Given the description of an element on the screen output the (x, y) to click on. 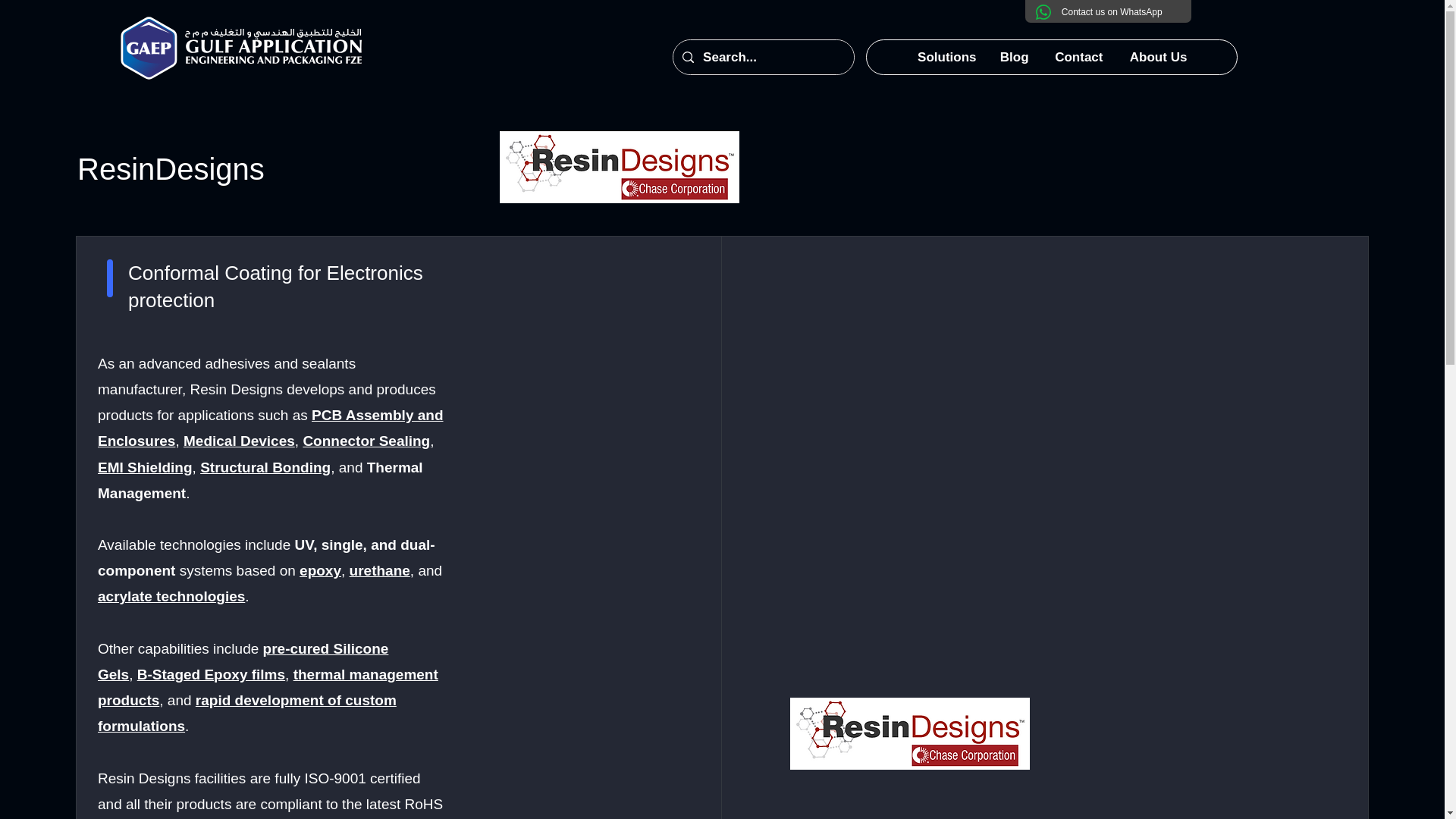
Blog (1013, 57)
About Us (1158, 57)
Contact (1078, 57)
Contact us on WhatsApp (1111, 11)
Solutions (946, 57)
